Given the description of an element on the screen output the (x, y) to click on. 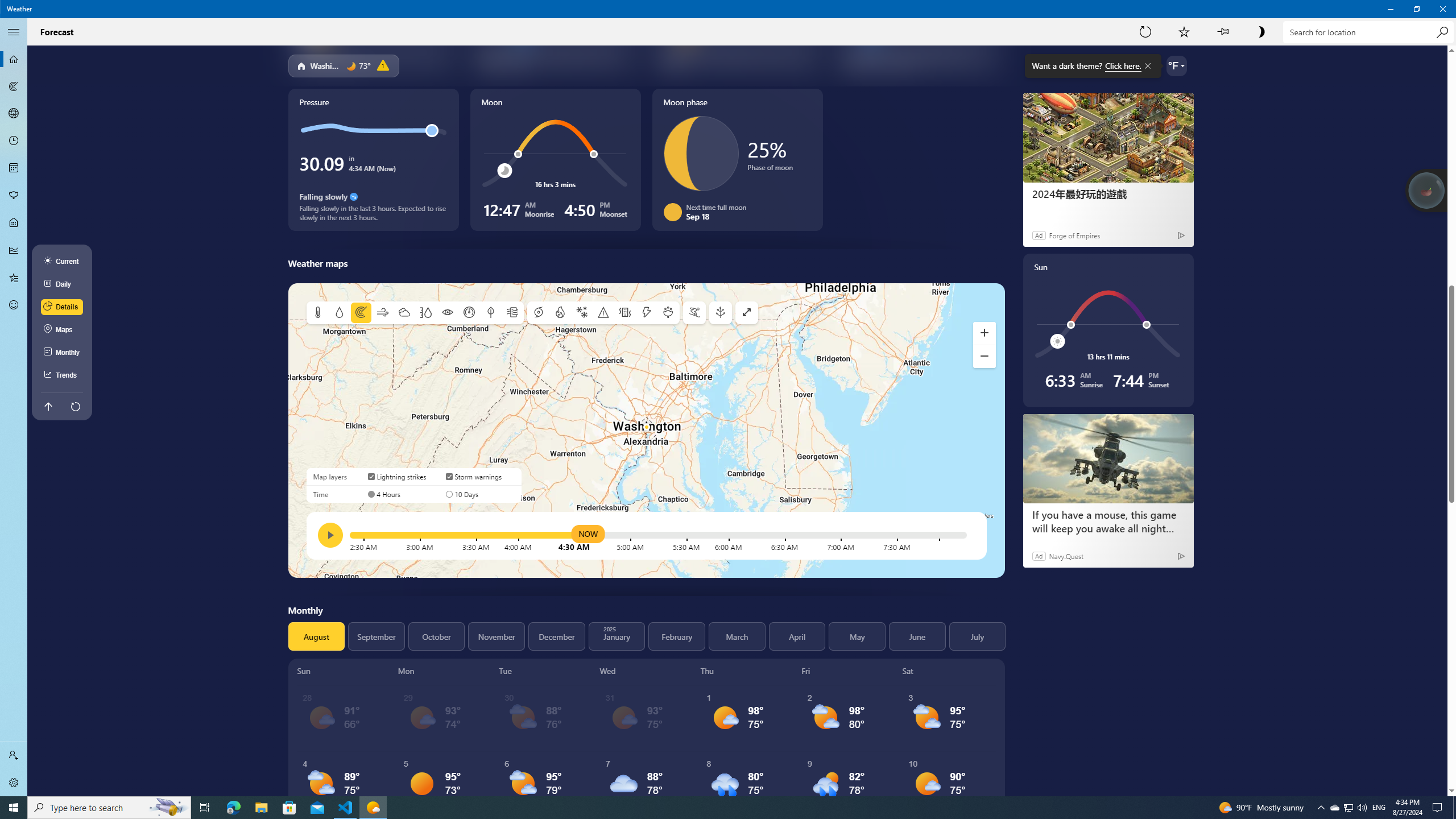
Minimize Weather (1390, 9)
Sign in (13, 755)
Forecast - Not Selected (13, 58)
Life - Not Selected (13, 222)
Collapse Navigation (13, 31)
Favorites - Not Selected (13, 277)
Settings (13, 782)
